Given the description of an element on the screen output the (x, y) to click on. 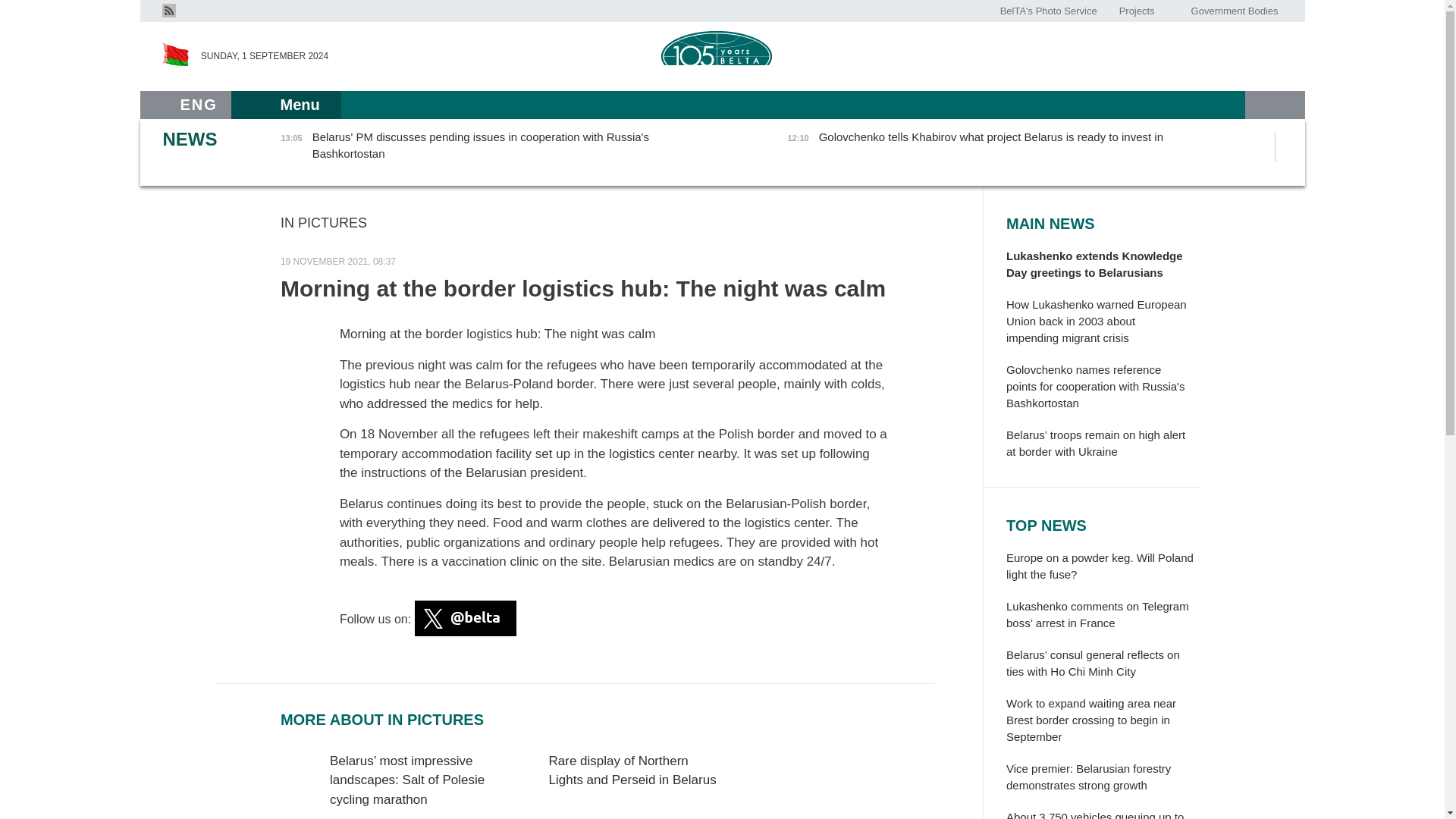
BelTA's Photo Service (1048, 11)
Government Bodies (1233, 11)
BelTA's Photo Service (1048, 11)
Rss (167, 9)
Rss (168, 10)
Projects (1136, 11)
Government Bodies (1233, 11)
Projects (1136, 11)
